Given the description of an element on the screen output the (x, y) to click on. 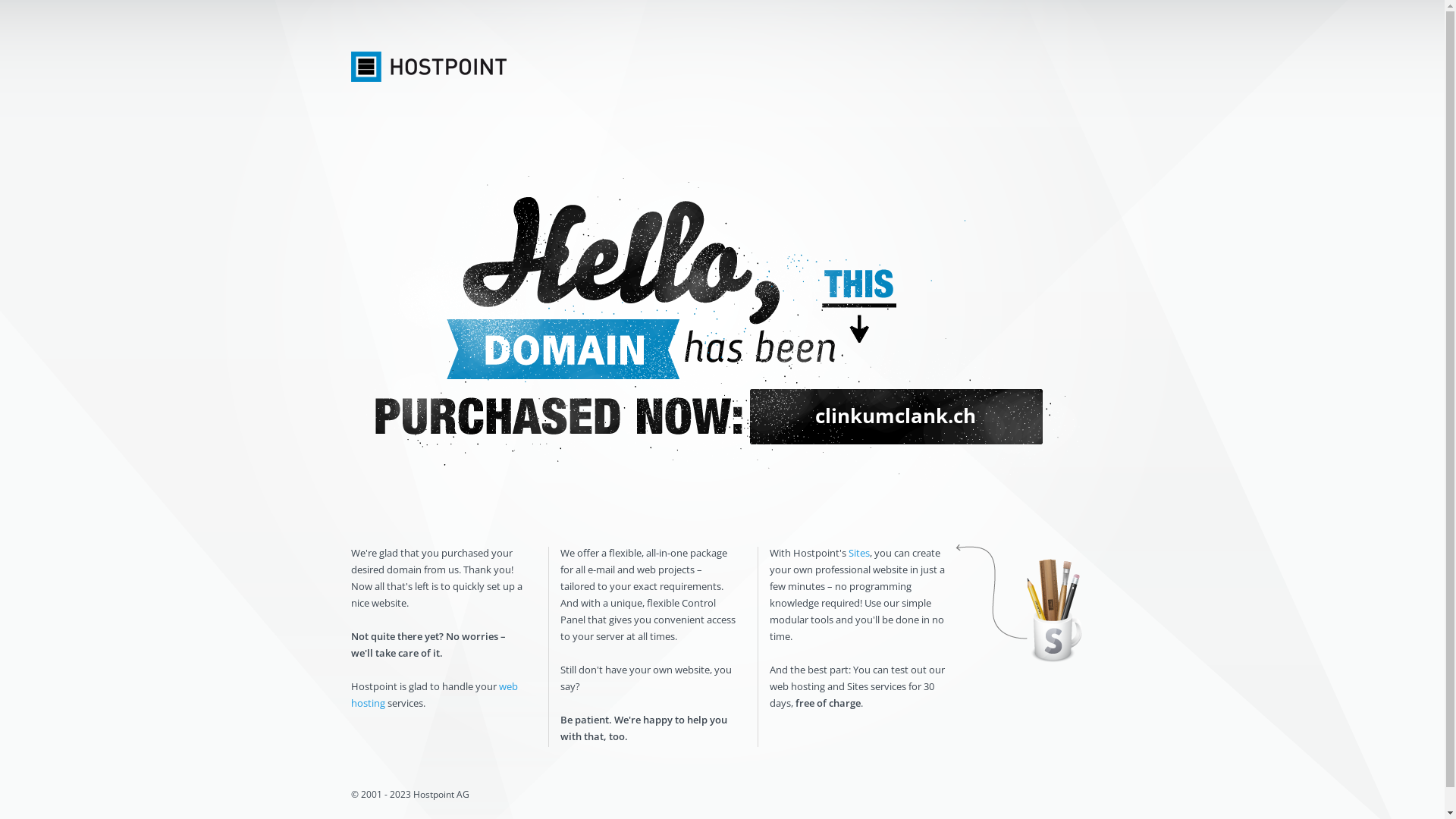
web hosting Element type: text (433, 694)
Sites Element type: text (858, 552)
